Given the description of an element on the screen output the (x, y) to click on. 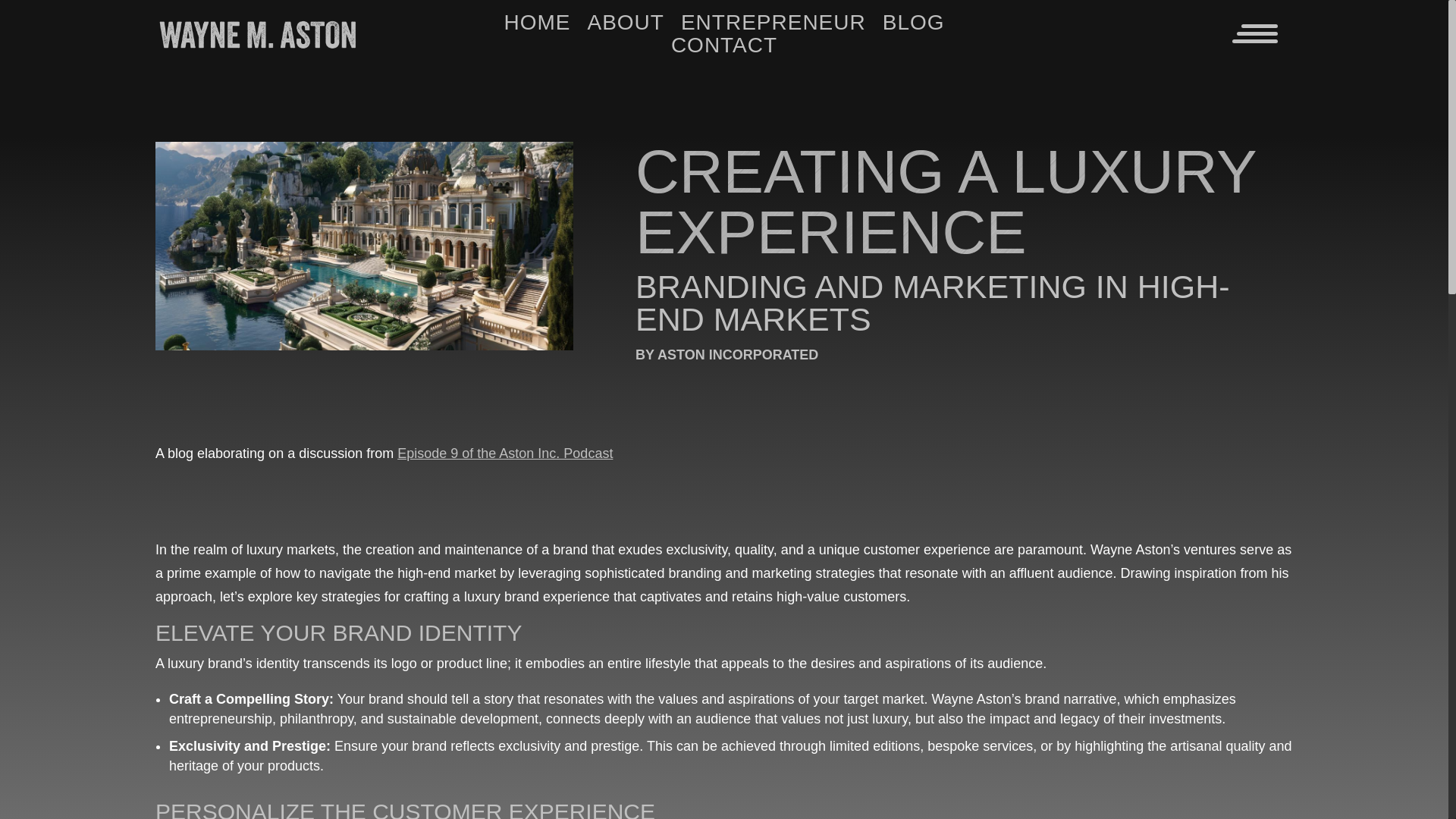
CONTACT (724, 48)
ABOUT (624, 25)
HOME (536, 25)
dragonwise wayne m aston (364, 245)
Episode 9 of the Aston Inc. Podcast (504, 453)
BLOG (913, 25)
ENTREPRENEUR (773, 25)
wayne m aston text logo (257, 33)
